Given the description of an element on the screen output the (x, y) to click on. 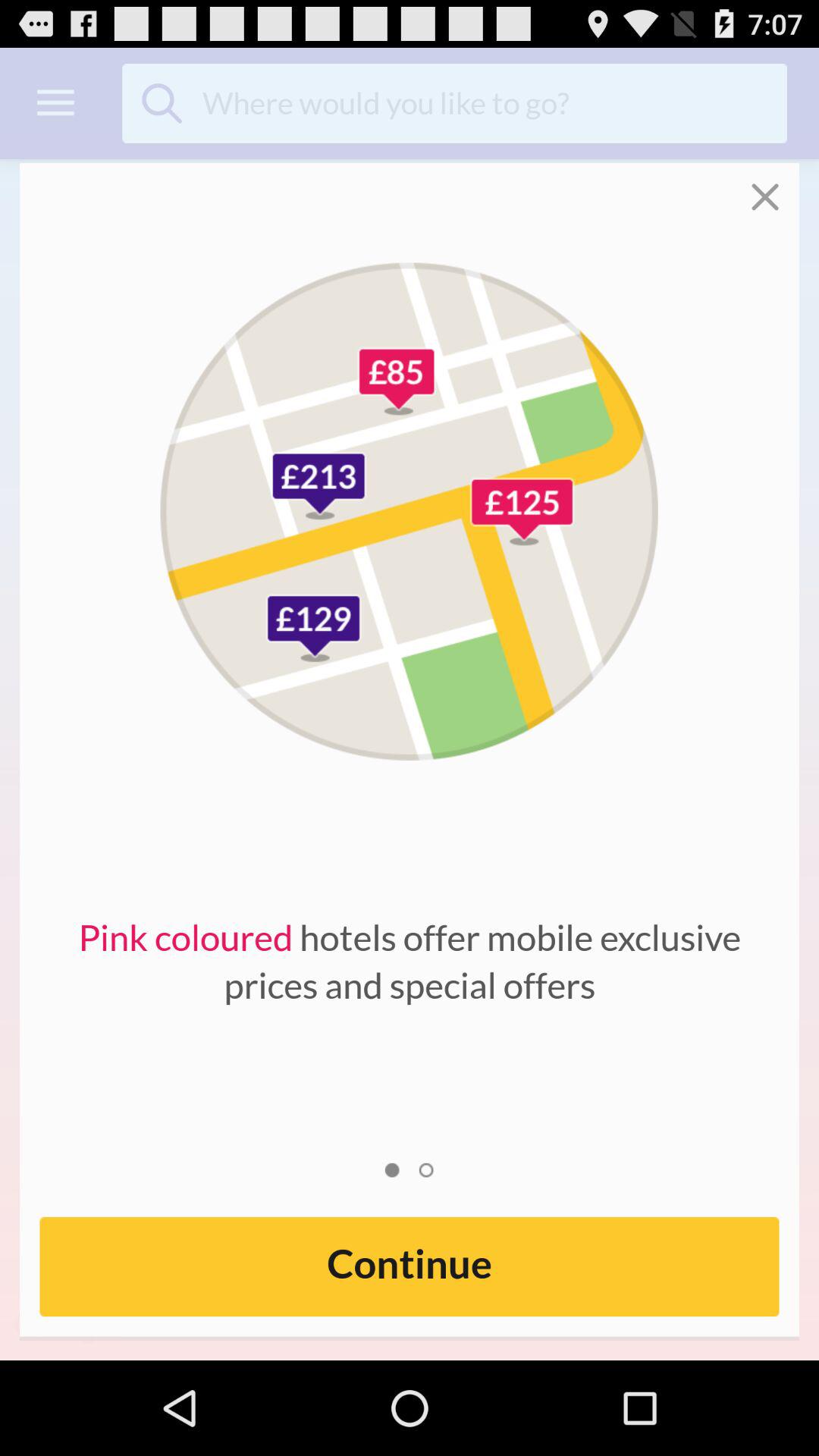
close popup notification (775, 187)
